Given the description of an element on the screen output the (x, y) to click on. 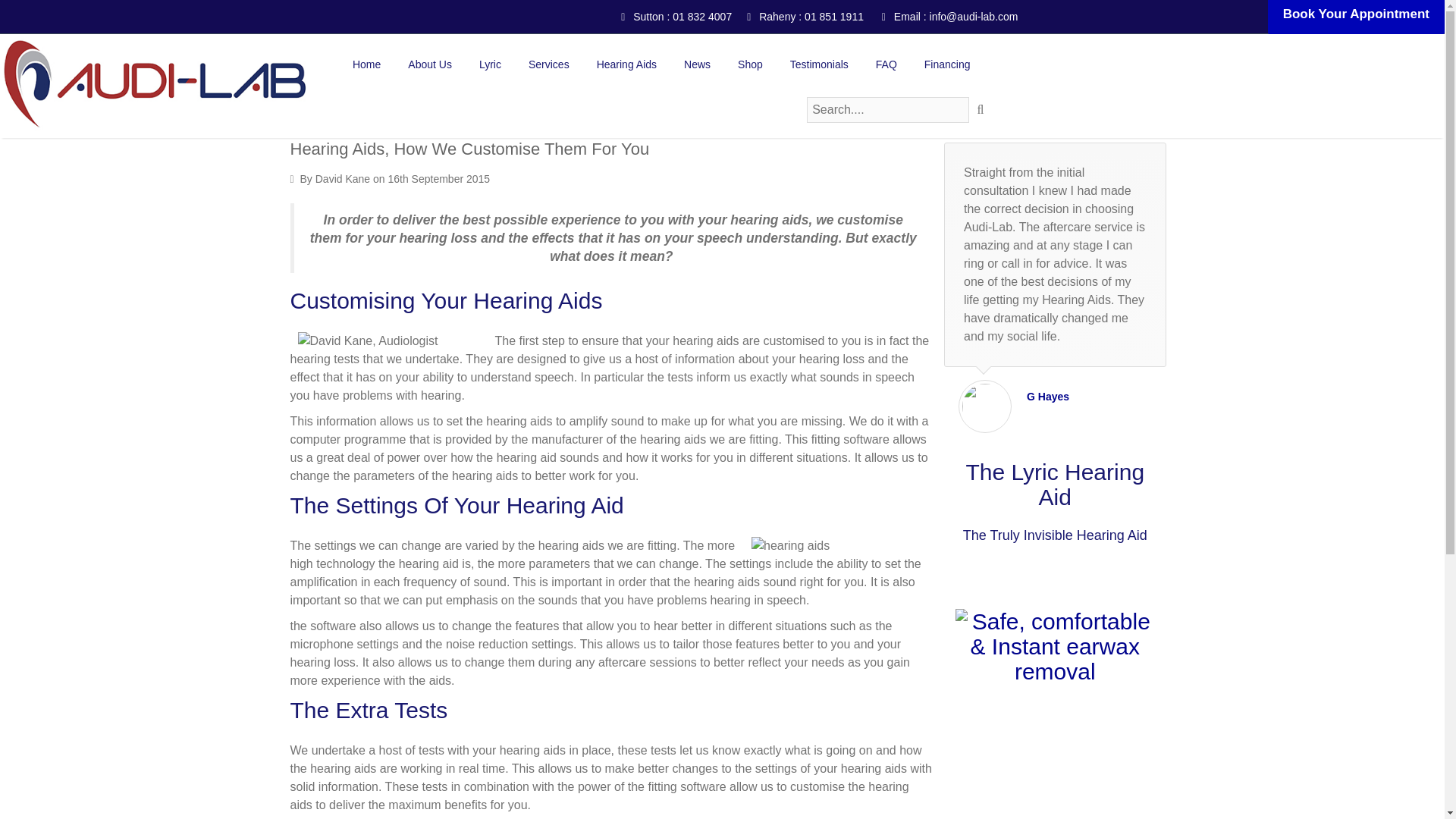
Services (549, 64)
About Us (429, 64)
G Hayes (1171, 396)
Sutton : 01 832 4007 (676, 16)
Hearing Aids (626, 64)
Financing (947, 64)
Raheny : 01 851 1911 (804, 16)
Testimonials (818, 64)
